Given the description of an element on the screen output the (x, y) to click on. 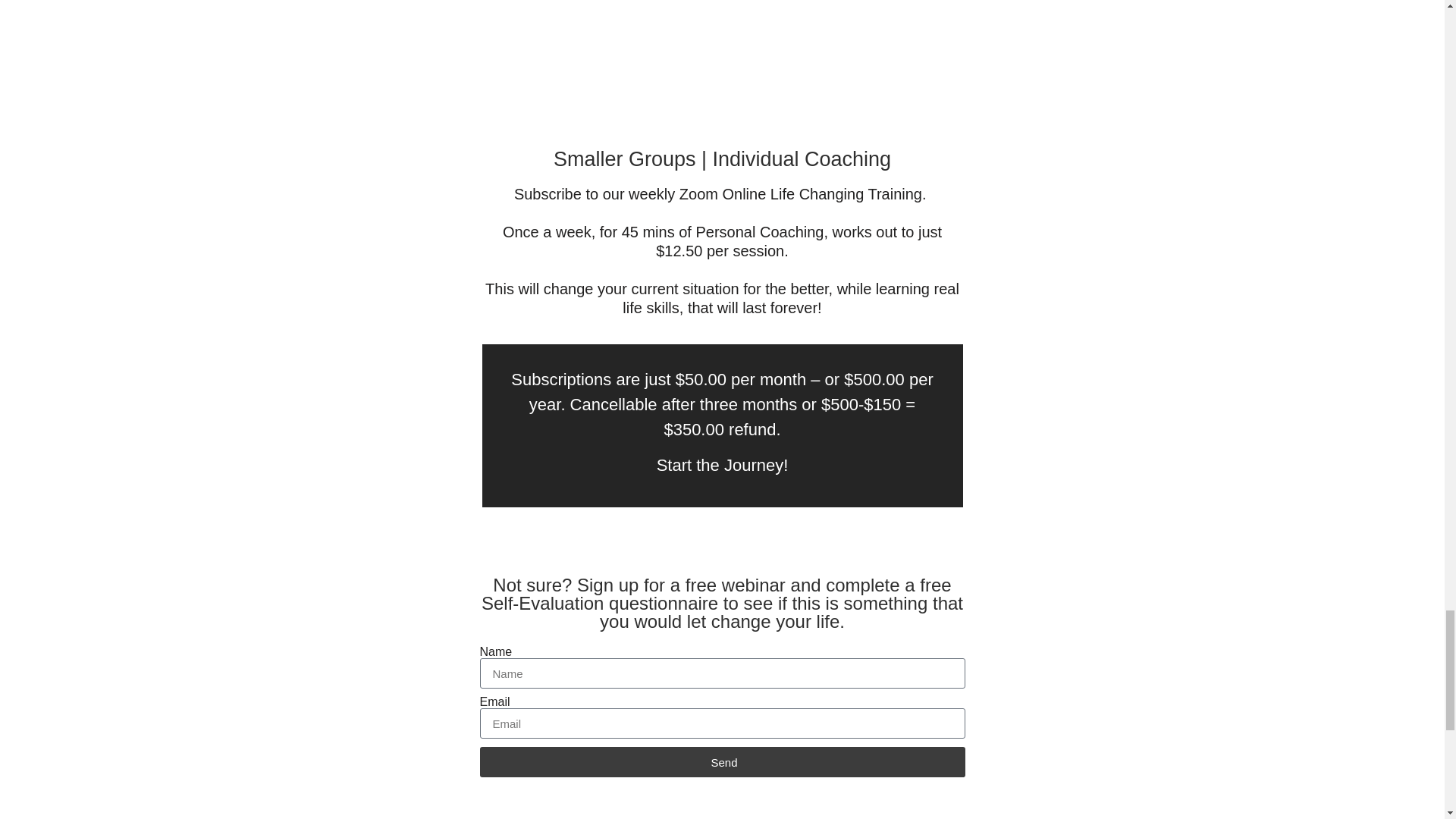
Send (721, 761)
